Given the description of an element on the screen output the (x, y) to click on. 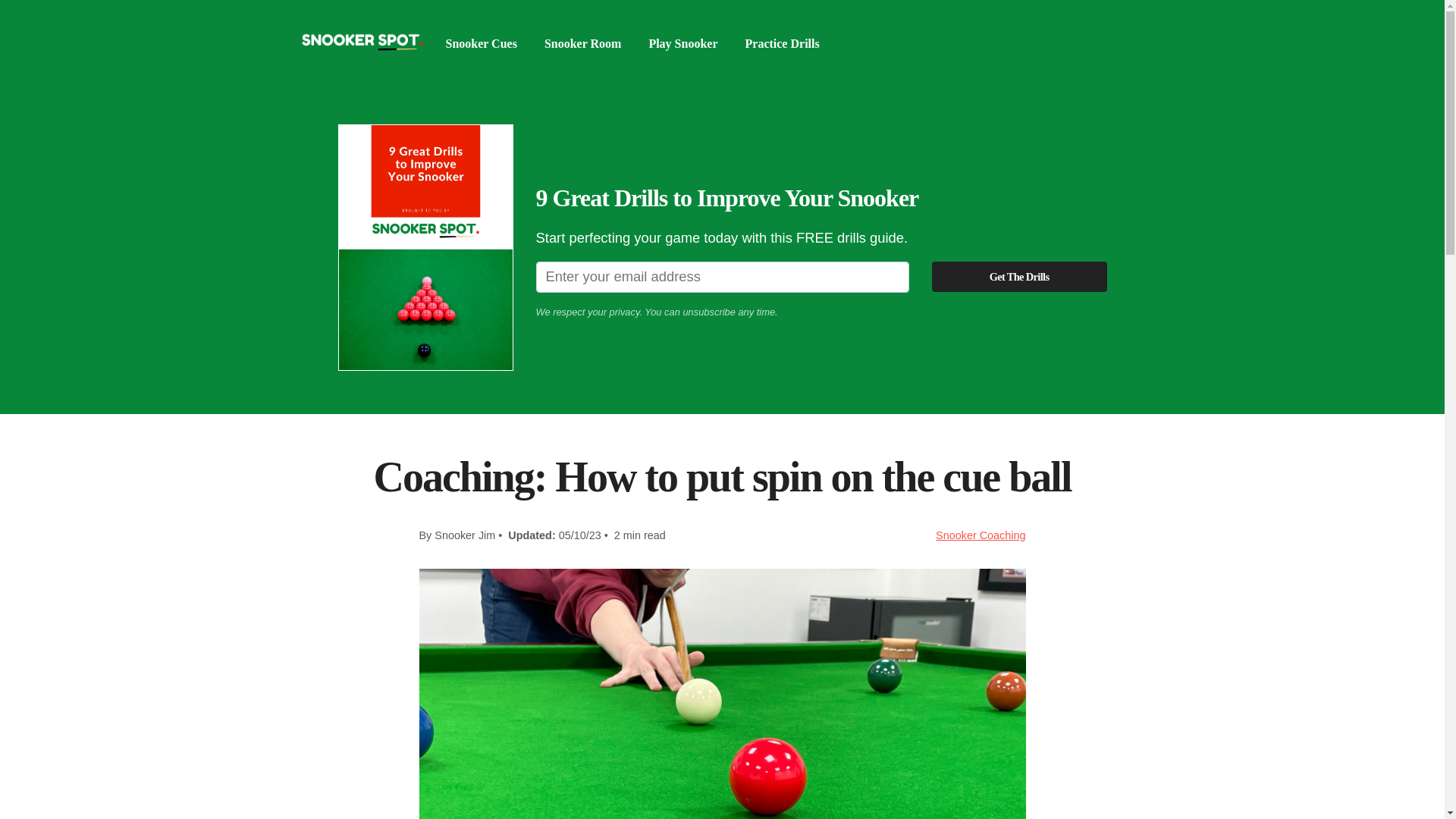
Snooker Cues (480, 44)
Snooker Coaching (980, 535)
Practice Drills (782, 44)
Snooker Room (582, 44)
Play Snooker (682, 44)
Get The Drills (1018, 276)
